Given the description of an element on the screen output the (x, y) to click on. 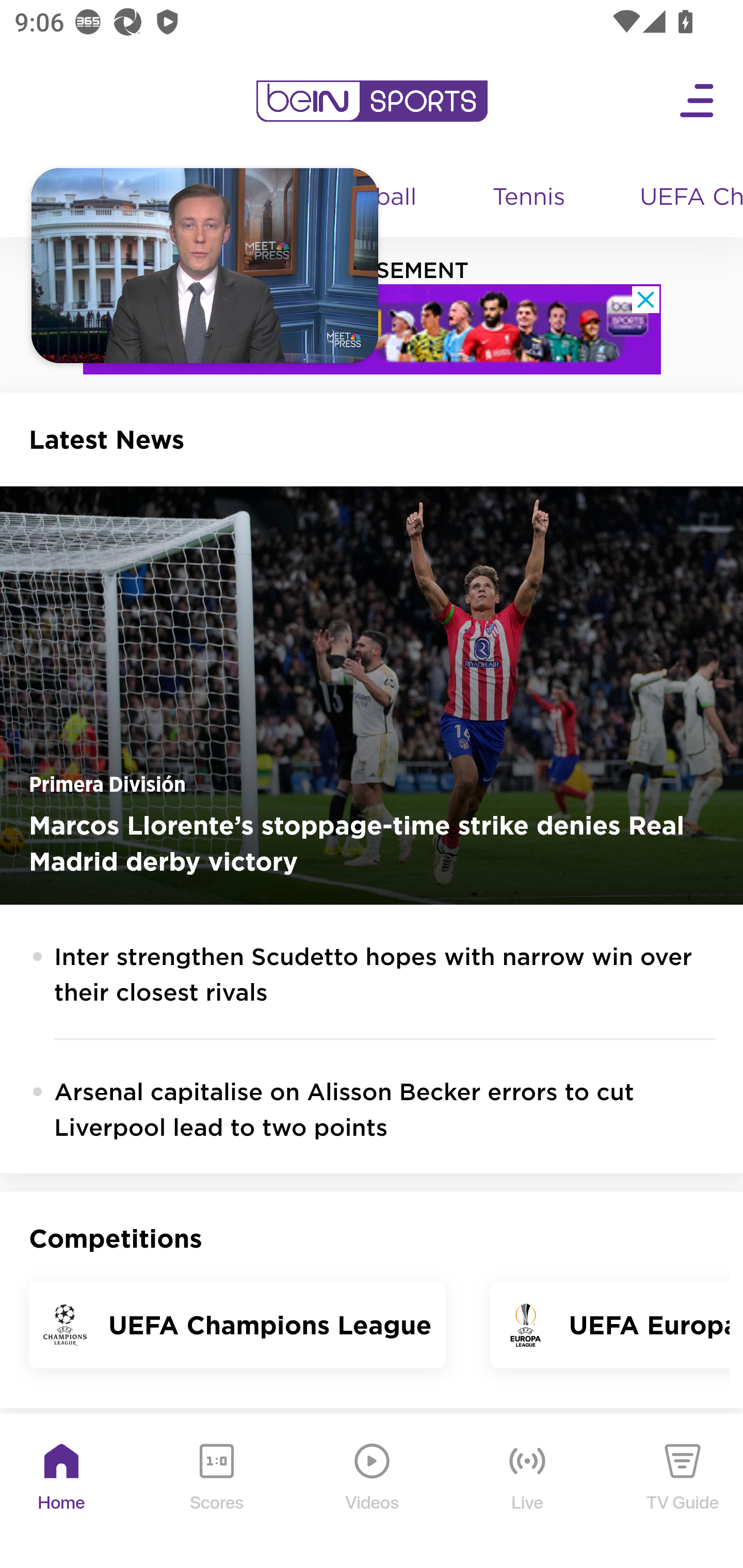
en-my?platform=mobile_android bein logo (371, 101)
Open Menu Icon (697, 101)
Tennis (530, 198)
UEFA Champions League (683, 198)
Home Home Icon Home (61, 1491)
Scores Scores Icon Scores (216, 1491)
Videos Videos Icon Videos (372, 1491)
TV Guide TV Guide Icon TV Guide (682, 1491)
